Given the description of an element on the screen output the (x, y) to click on. 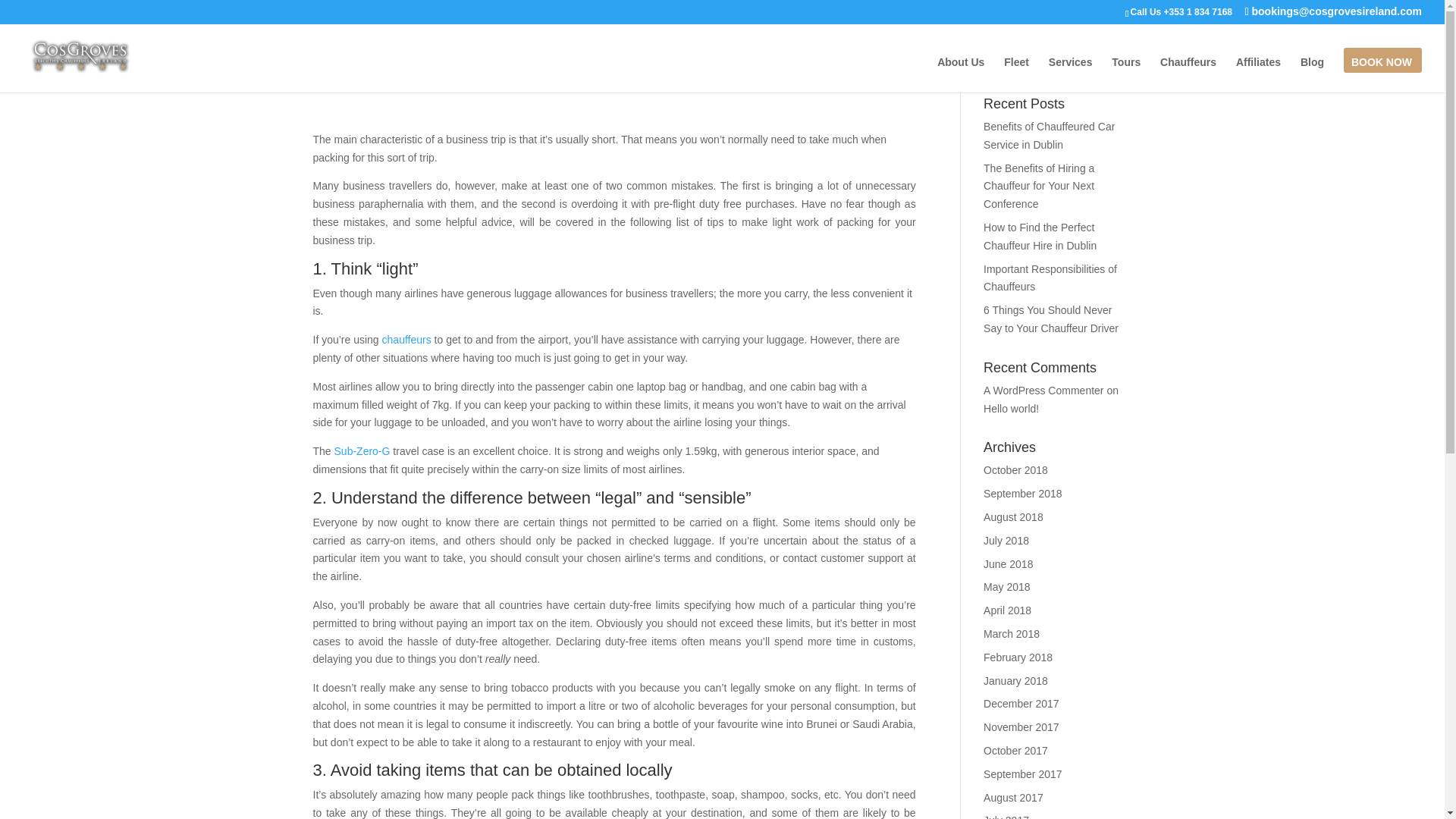
November 2017 (1021, 727)
Important Responsibilities of Chauffeurs (1050, 277)
Eric (335, 82)
May 2018 (1006, 586)
October 2017 (1016, 750)
0 comments (525, 82)
April 2018 (1007, 610)
chauffeurs (405, 339)
6 Things You Should Never Say to Your Chauffeur Driver (1051, 318)
BOOK NOW (1381, 74)
